Given the description of an element on the screen output the (x, y) to click on. 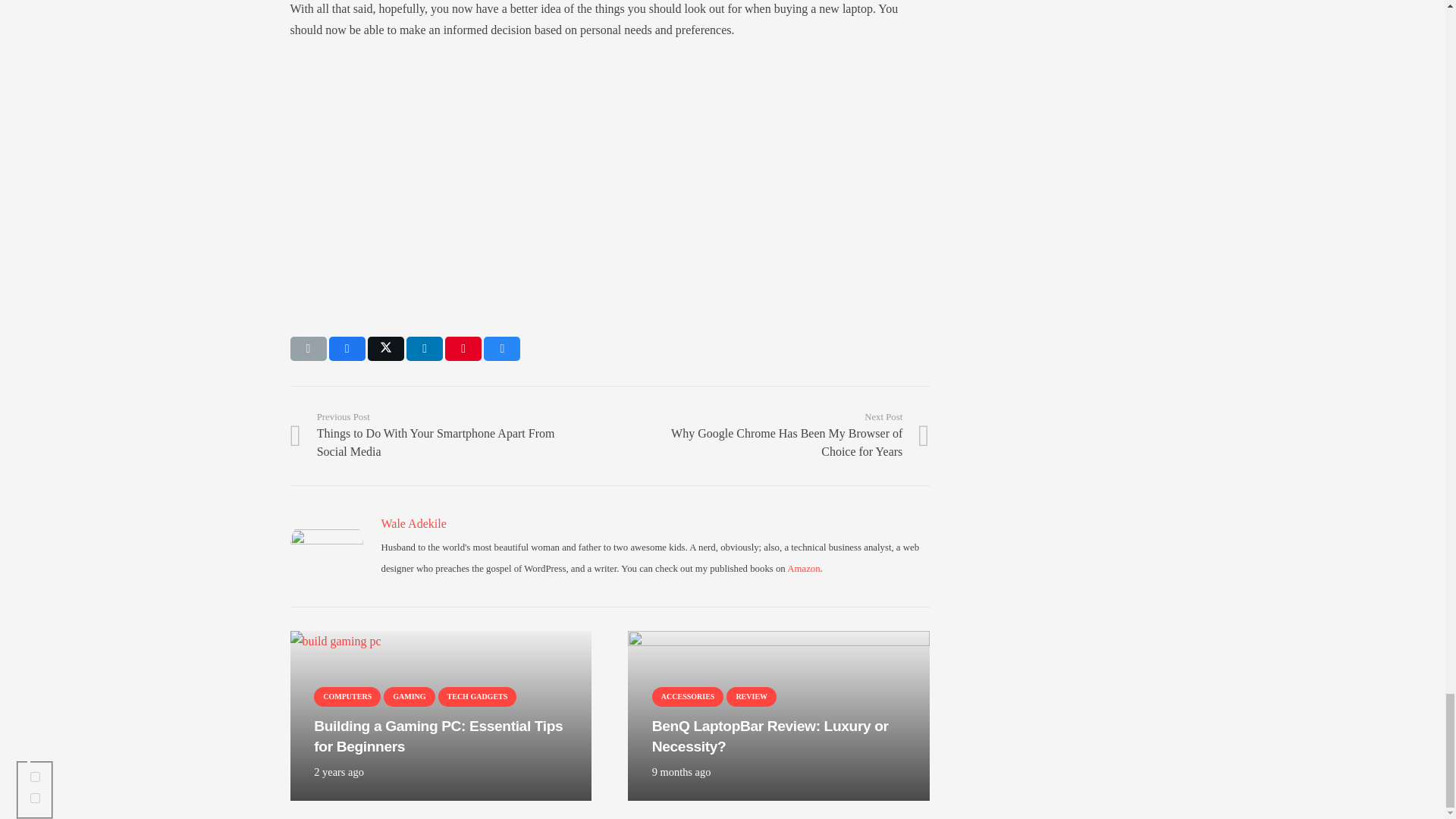
Email this (307, 348)
Share this (347, 348)
